Given the description of an element on the screen output the (x, y) to click on. 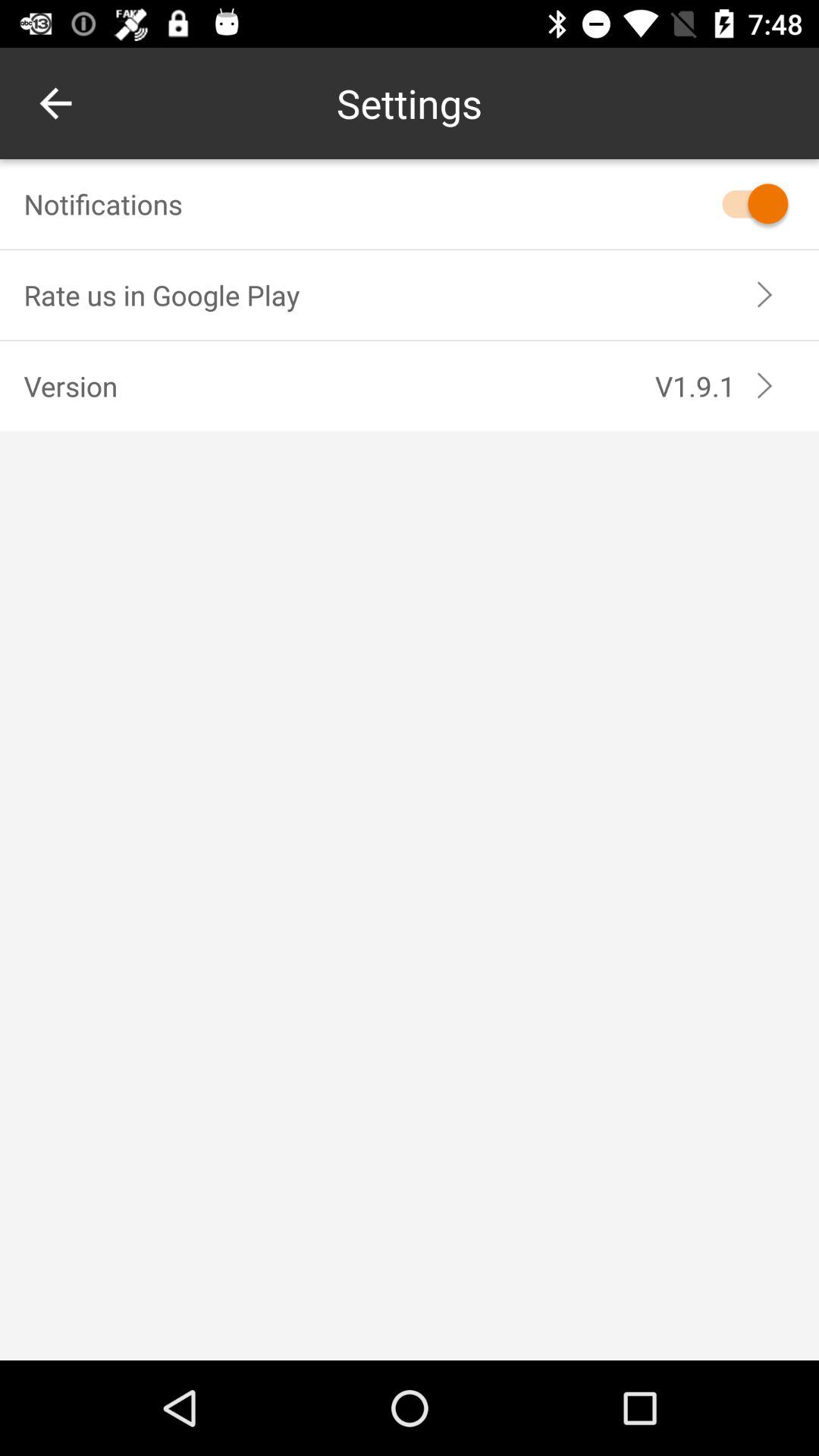
toggle notifications option (747, 203)
